Given the description of an element on the screen output the (x, y) to click on. 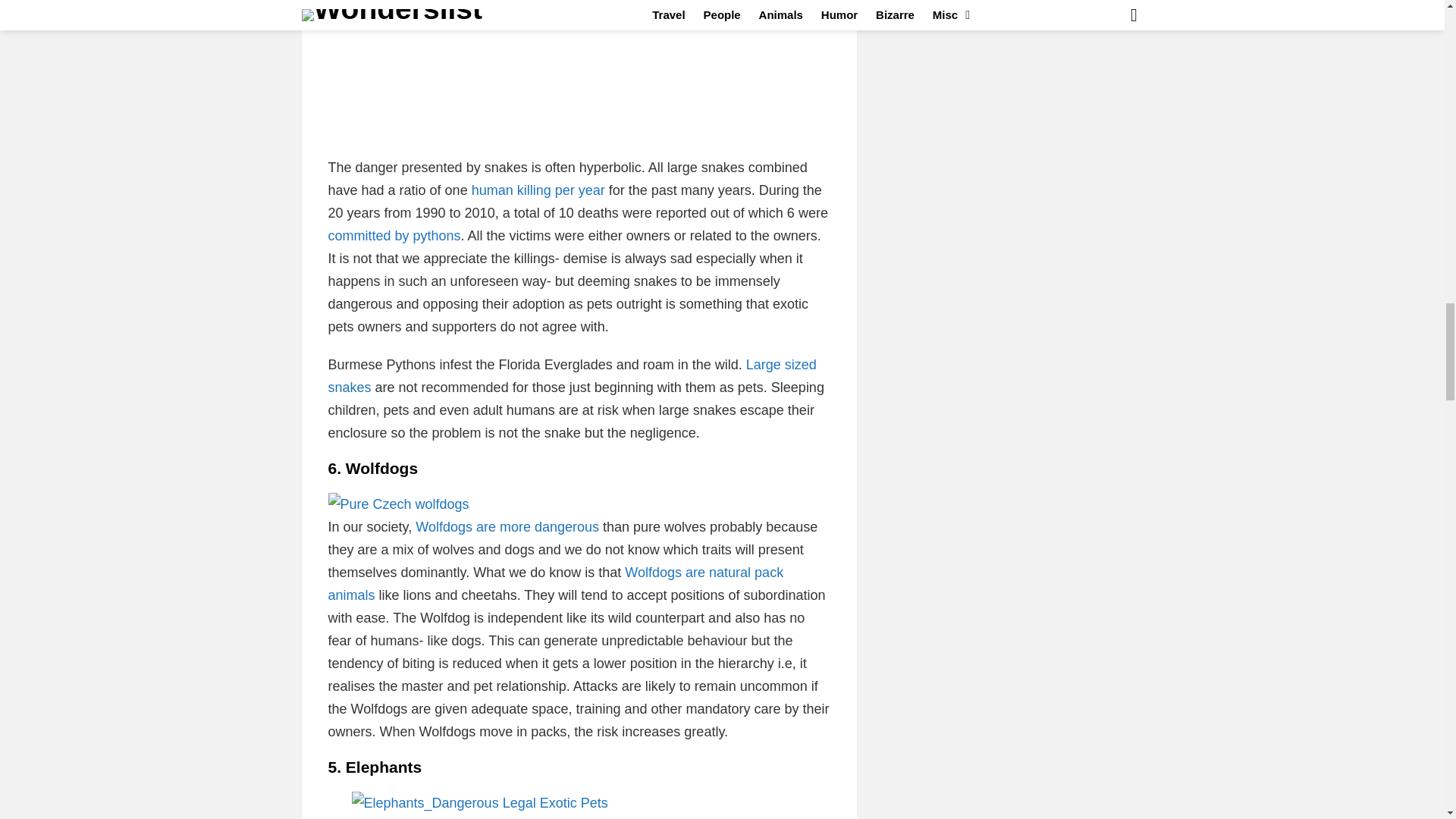
committed by pythons (393, 235)
human killing per year (538, 190)
Large sized snakes (571, 375)
Constrictor Snakes (579, 78)
Pure Czech wolfdogs (397, 504)
